Given the description of an element on the screen output the (x, y) to click on. 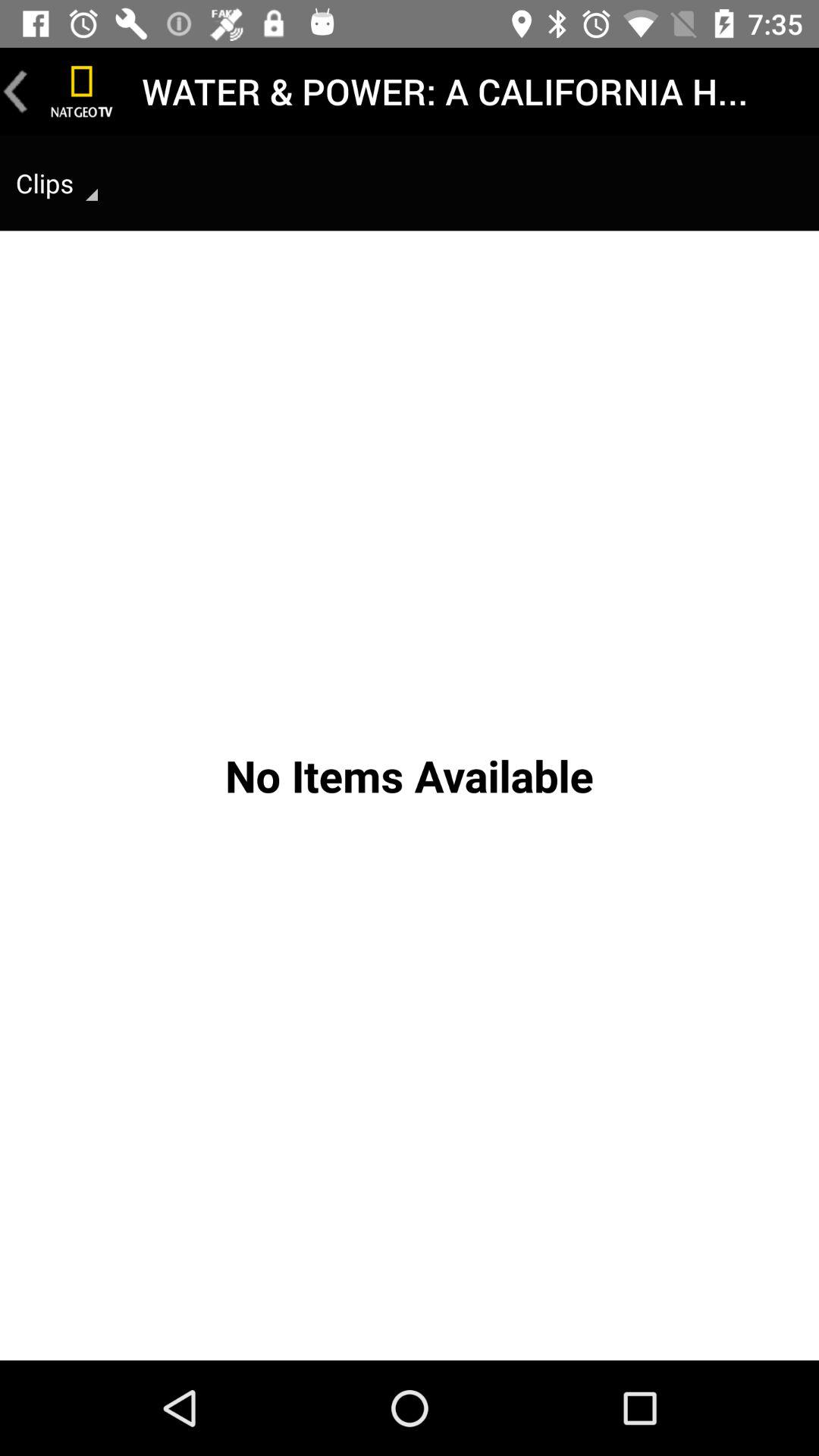
open home page (81, 91)
